Given the description of an element on the screen output the (x, y) to click on. 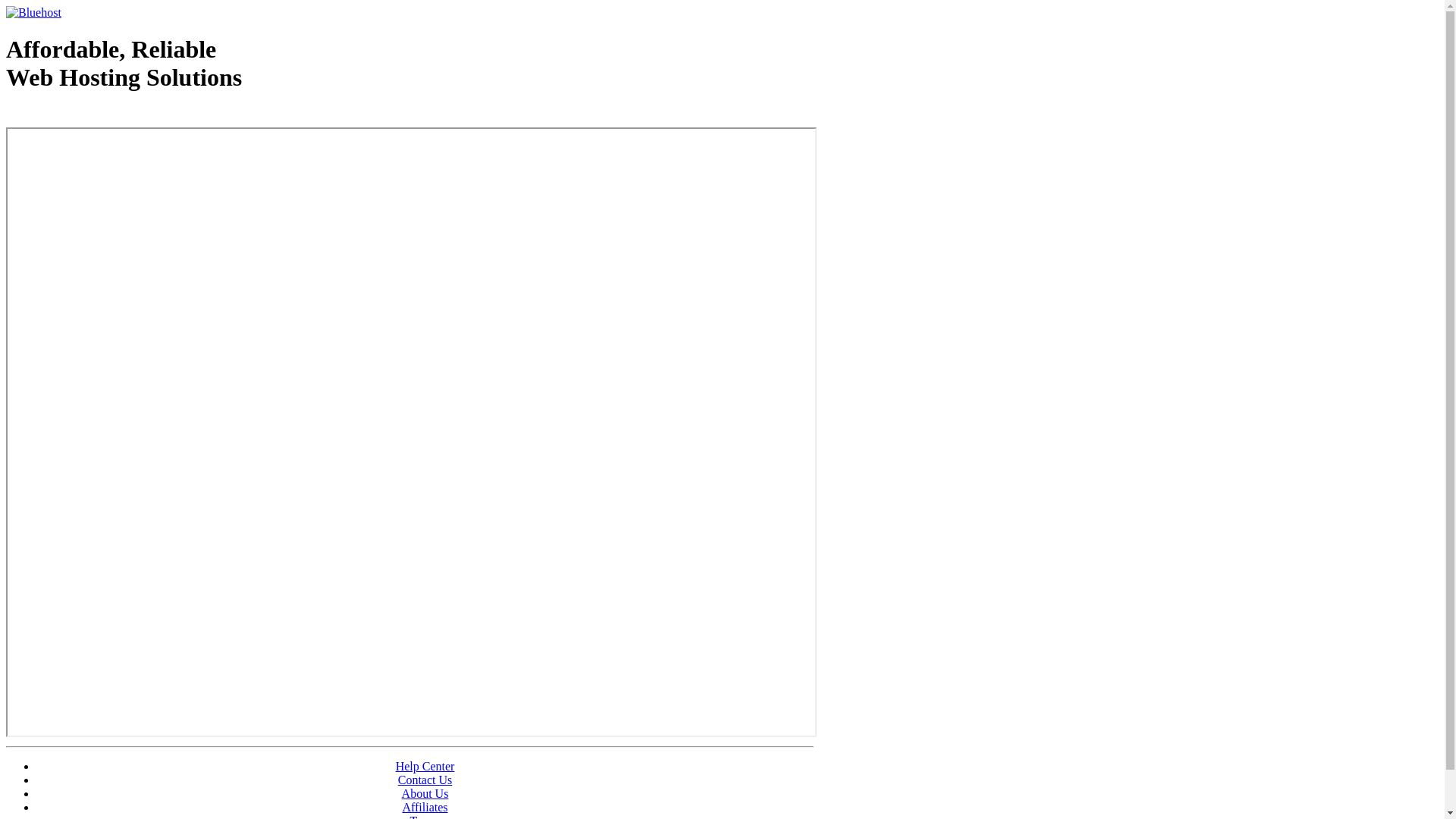
Contact Us Element type: text (425, 779)
Web Hosting - courtesy of www.bluehost.com Element type: text (94, 115)
Affiliates Element type: text (424, 806)
Help Center Element type: text (425, 765)
About Us Element type: text (424, 793)
